Given the description of an element on the screen output the (x, y) to click on. 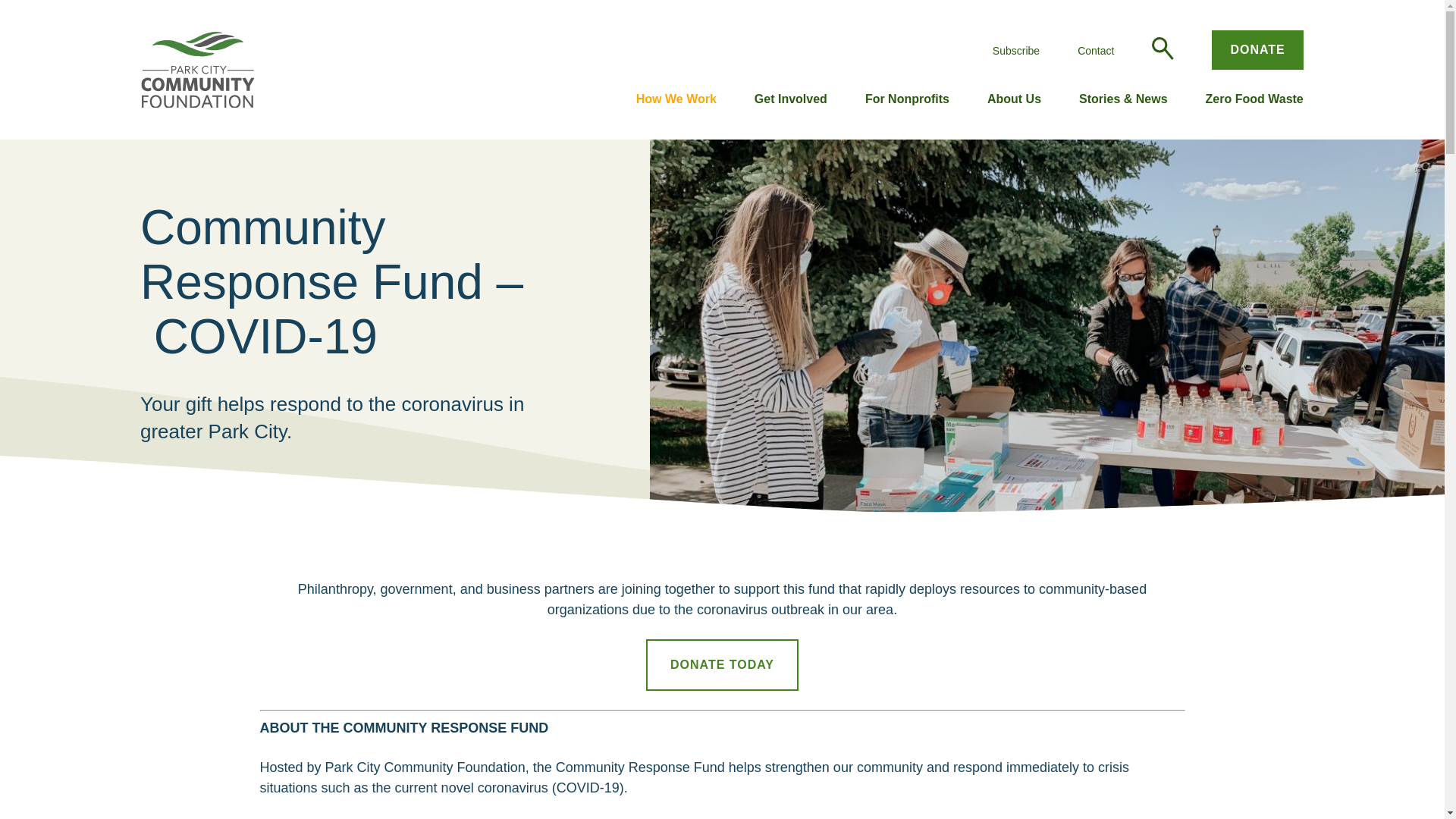
Contact (1095, 50)
DONATE (1257, 49)
Park City Community Foundation (197, 69)
For Nonprofits (906, 99)
Subscribe (1015, 50)
About Us (1014, 99)
Zero Food Waste (1254, 99)
Get Involved (790, 99)
How We Work (676, 99)
